Given the description of an element on the screen output the (x, y) to click on. 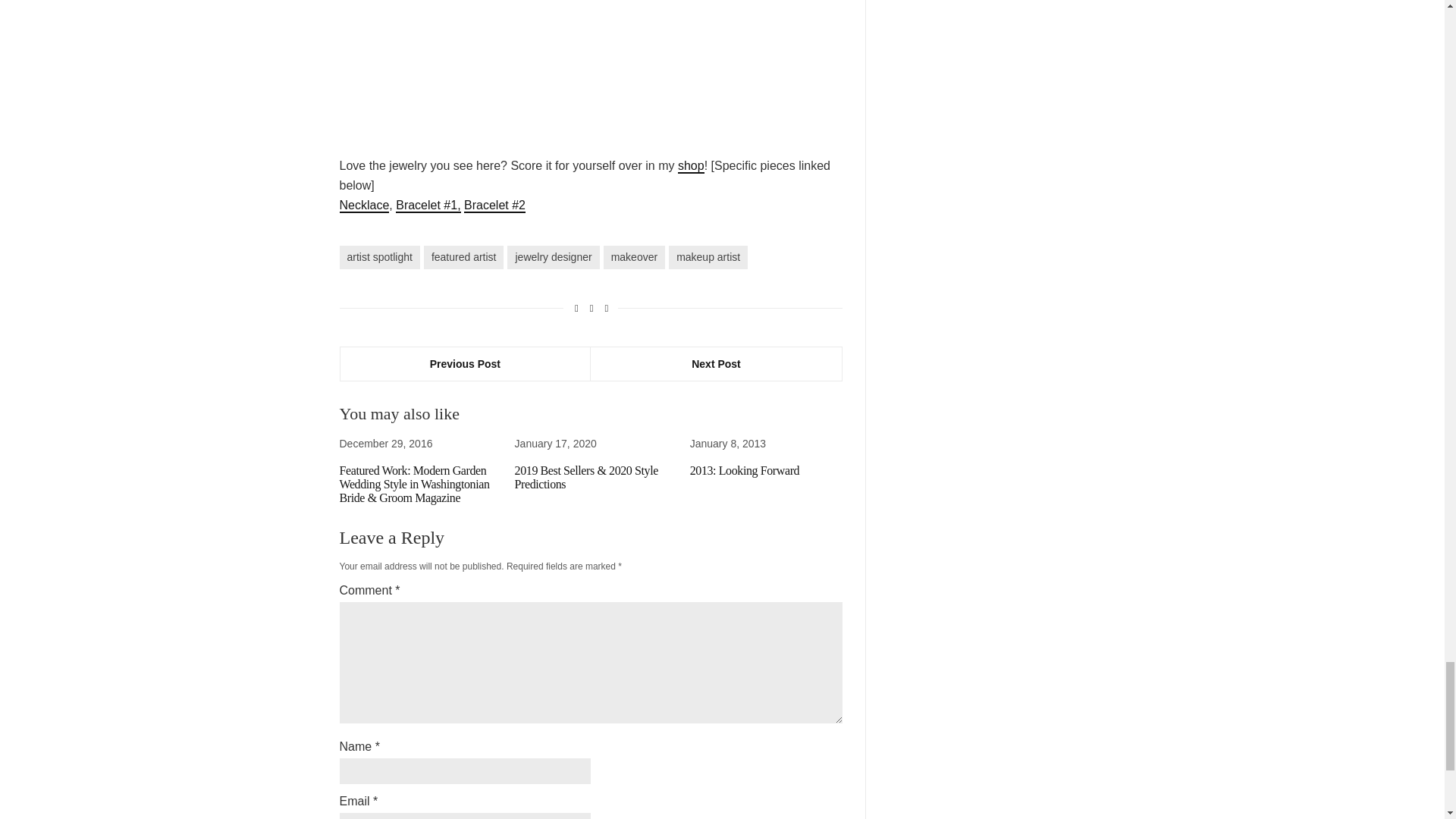
makeup artist (708, 257)
Necklace (364, 205)
Previous Post (465, 363)
artist spotlight (379, 257)
Mini Makeover with Carolyn Thombs (591, 66)
shop (691, 165)
featured artist (463, 257)
makeover (634, 257)
jewelry designer (552, 257)
